Given the description of an element on the screen output the (x, y) to click on. 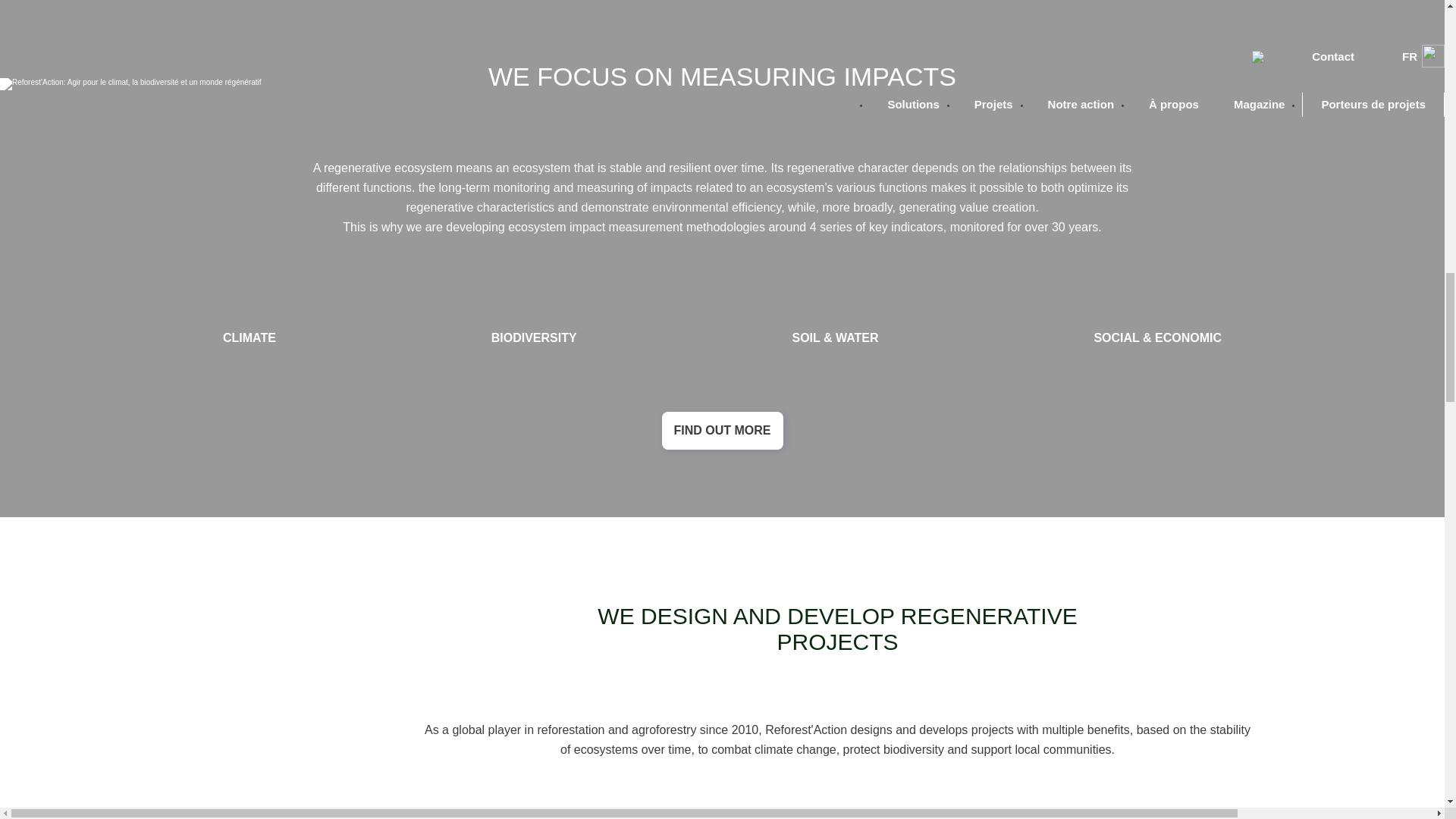
FIND OUT MORE (722, 430)
